Given the description of an element on the screen output the (x, y) to click on. 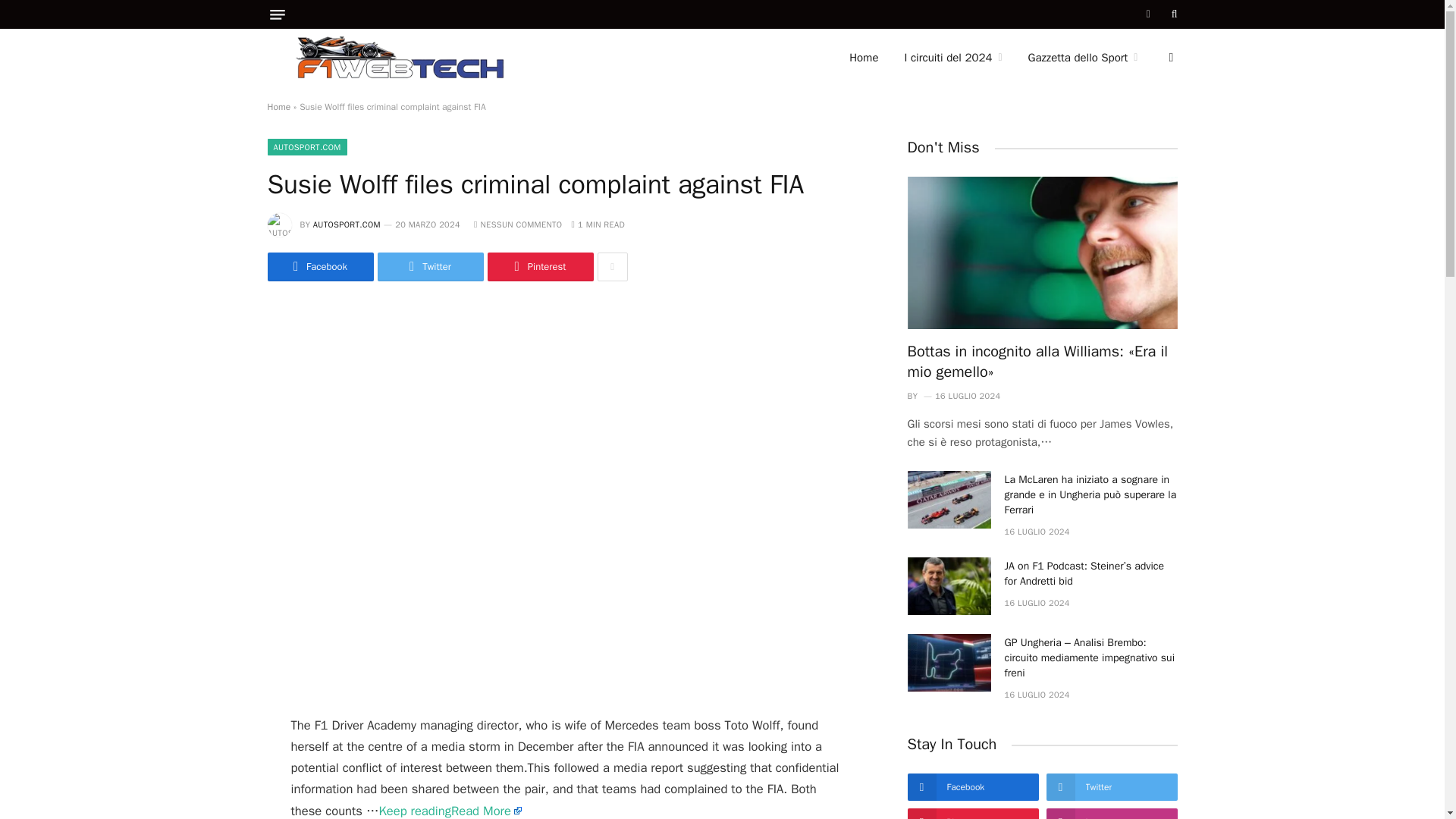
Switch to Dark Design - easier on eyes. (1168, 57)
Home (863, 57)
f1webtech (400, 57)
Gazzetta dello Sport (1082, 57)
I circuiti del 2024 (952, 57)
